Given the description of an element on the screen output the (x, y) to click on. 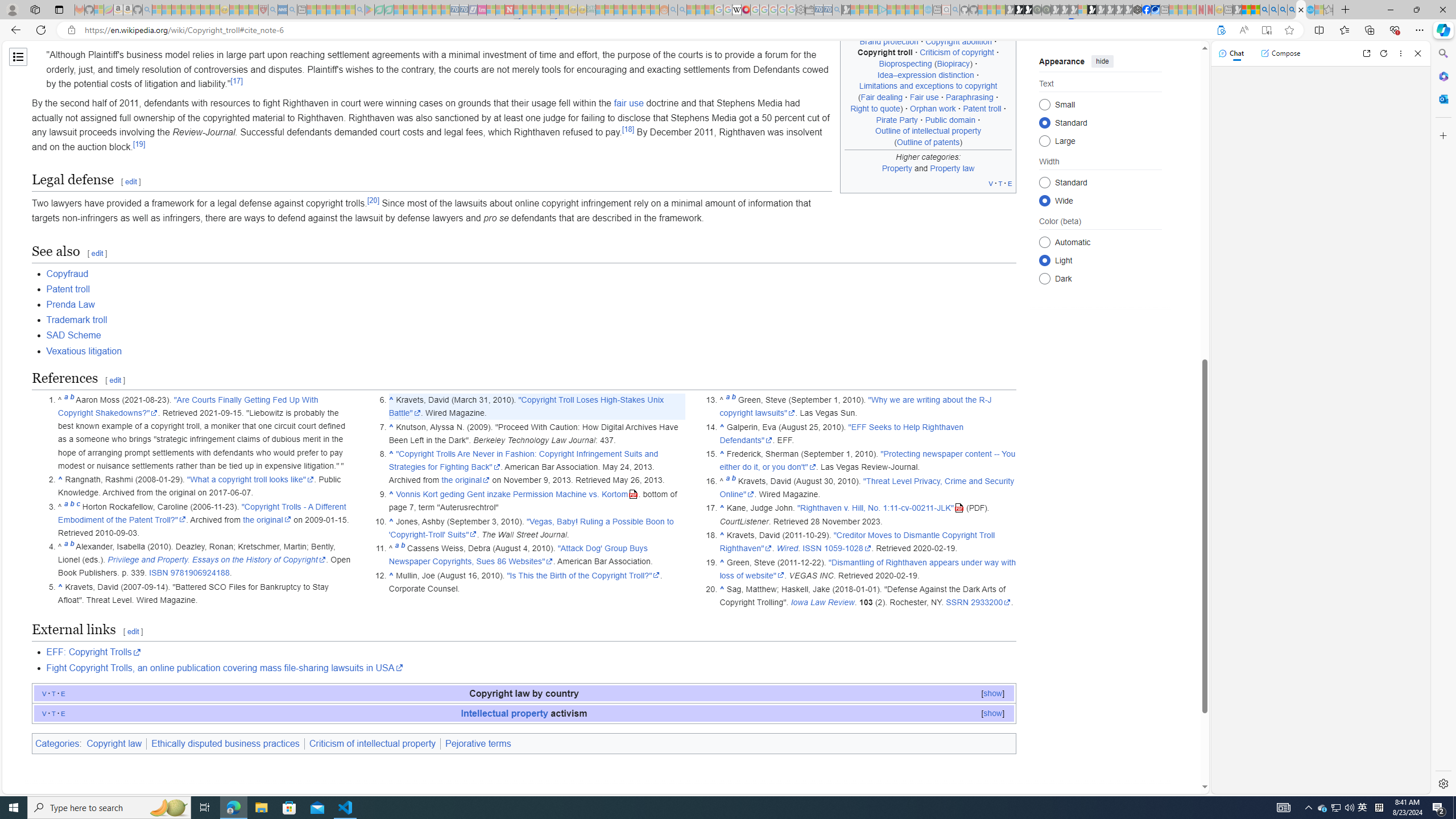
Jump up to: a (727, 480)
ISSN (811, 548)
2009 Bing officially replaced Live Search on June 3 - Search (1272, 9)
Settings - Sleeping (799, 9)
Bluey: Let's Play! - Apps on Google Play - Sleeping (369, 9)
Paraphrasing (969, 97)
Nordace | Facebook (1146, 9)
Bing AI - Search (1264, 9)
